Given the description of an element on the screen output the (x, y) to click on. 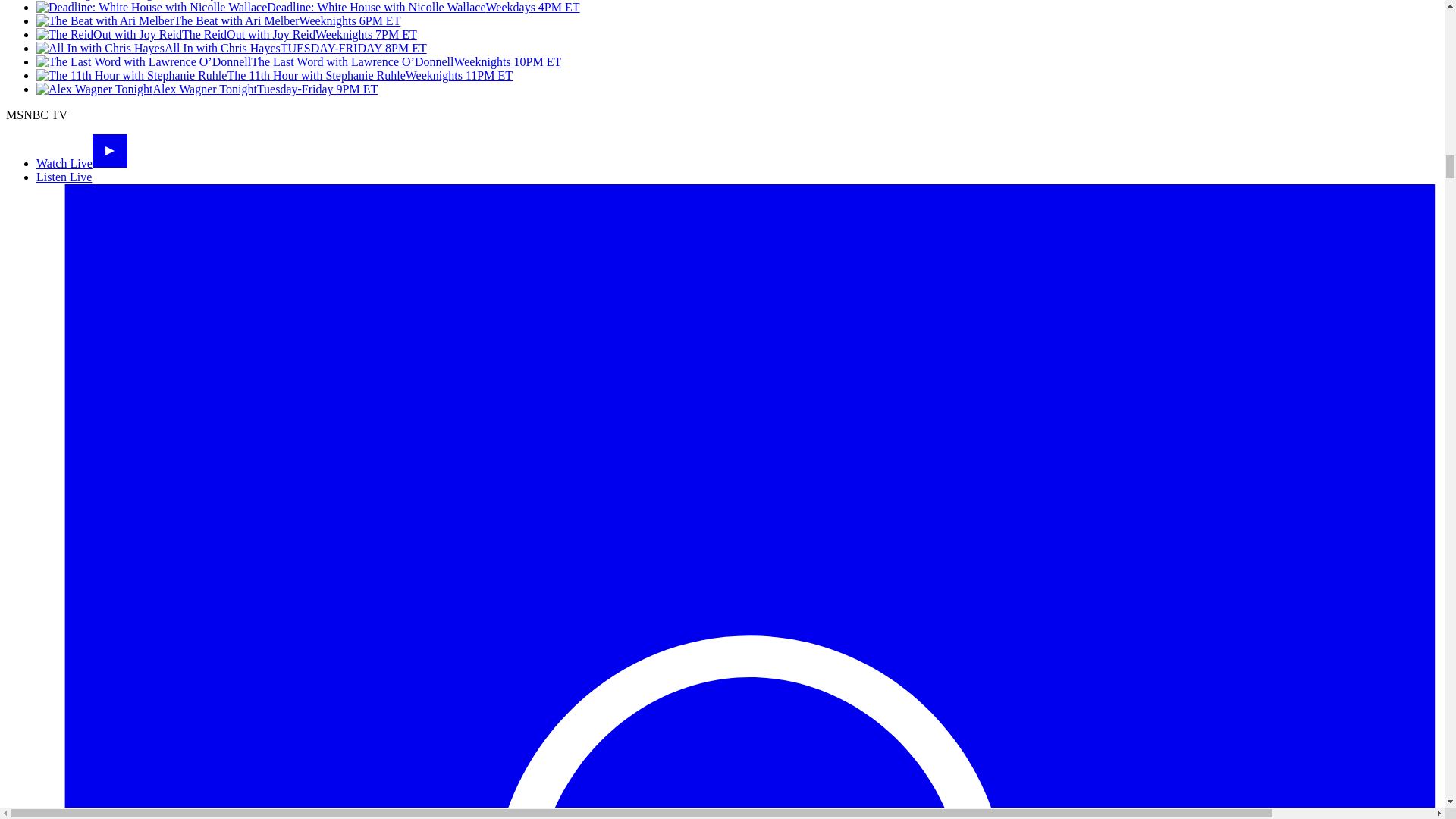
The 11th Hour with Stephanie RuhleWeeknights 11PM ET (274, 74)
All In with Chris HayesTUESDAY-FRIDAY 8PM ET (231, 47)
The ReidOut with Joy ReidWeeknights 7PM ET (226, 33)
Deadline: White House with Nicolle WallaceWeekdays 4PM ET (307, 6)
Watch Live (82, 163)
Alex Wagner TonightTuesday-Friday 9PM ET (206, 88)
The Beat with Ari MelberWeeknights 6PM ET (218, 20)
